Given the description of an element on the screen output the (x, y) to click on. 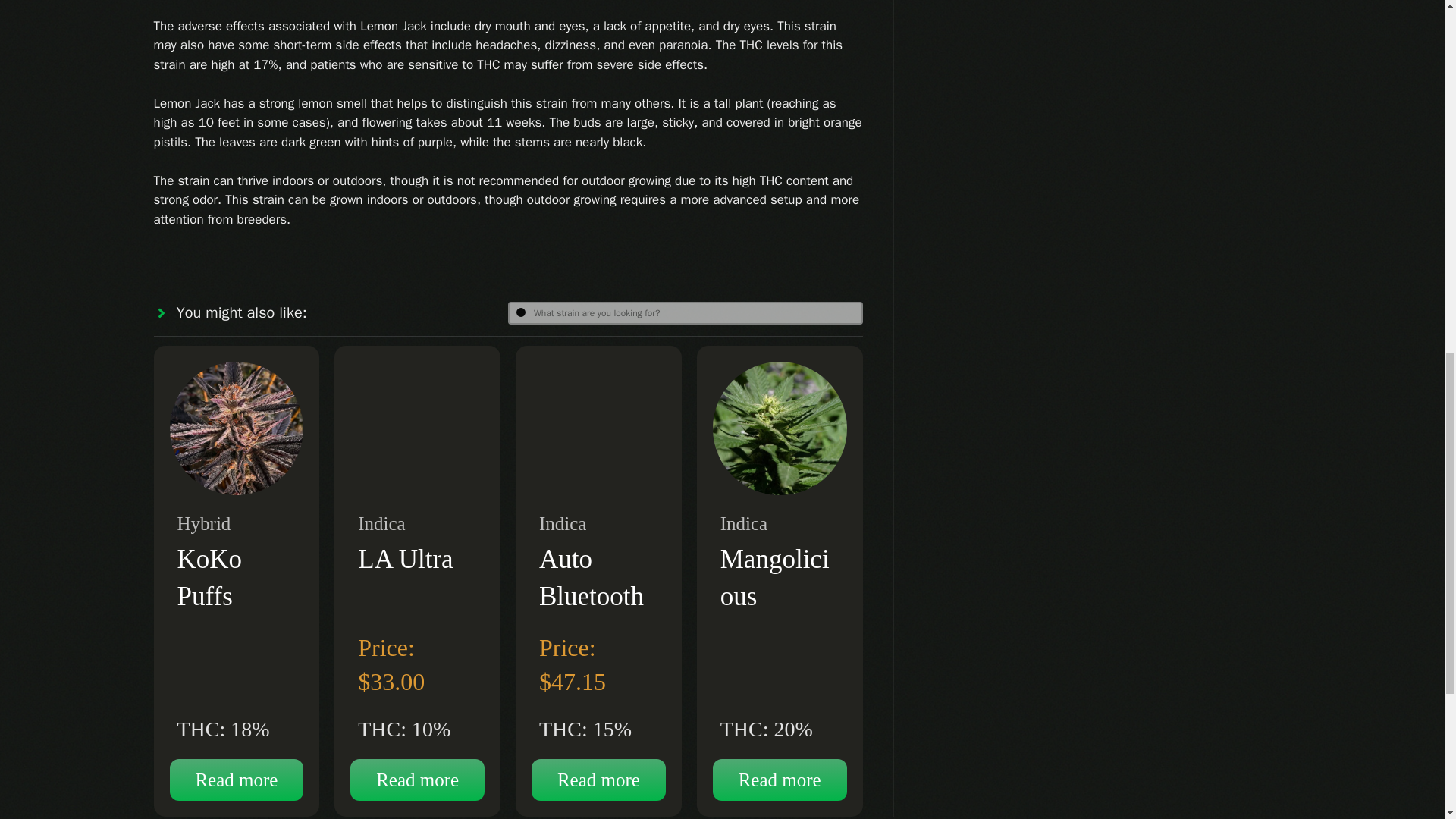
Read more (417, 779)
Read more (237, 779)
KoKo Puffs (210, 577)
LA Ultra (405, 559)
Read more (598, 779)
Read more (780, 779)
Mangolicious (774, 577)
Scroll back to top (1406, 720)
Auto Bluetooth (590, 577)
